Given the description of an element on the screen output the (x, y) to click on. 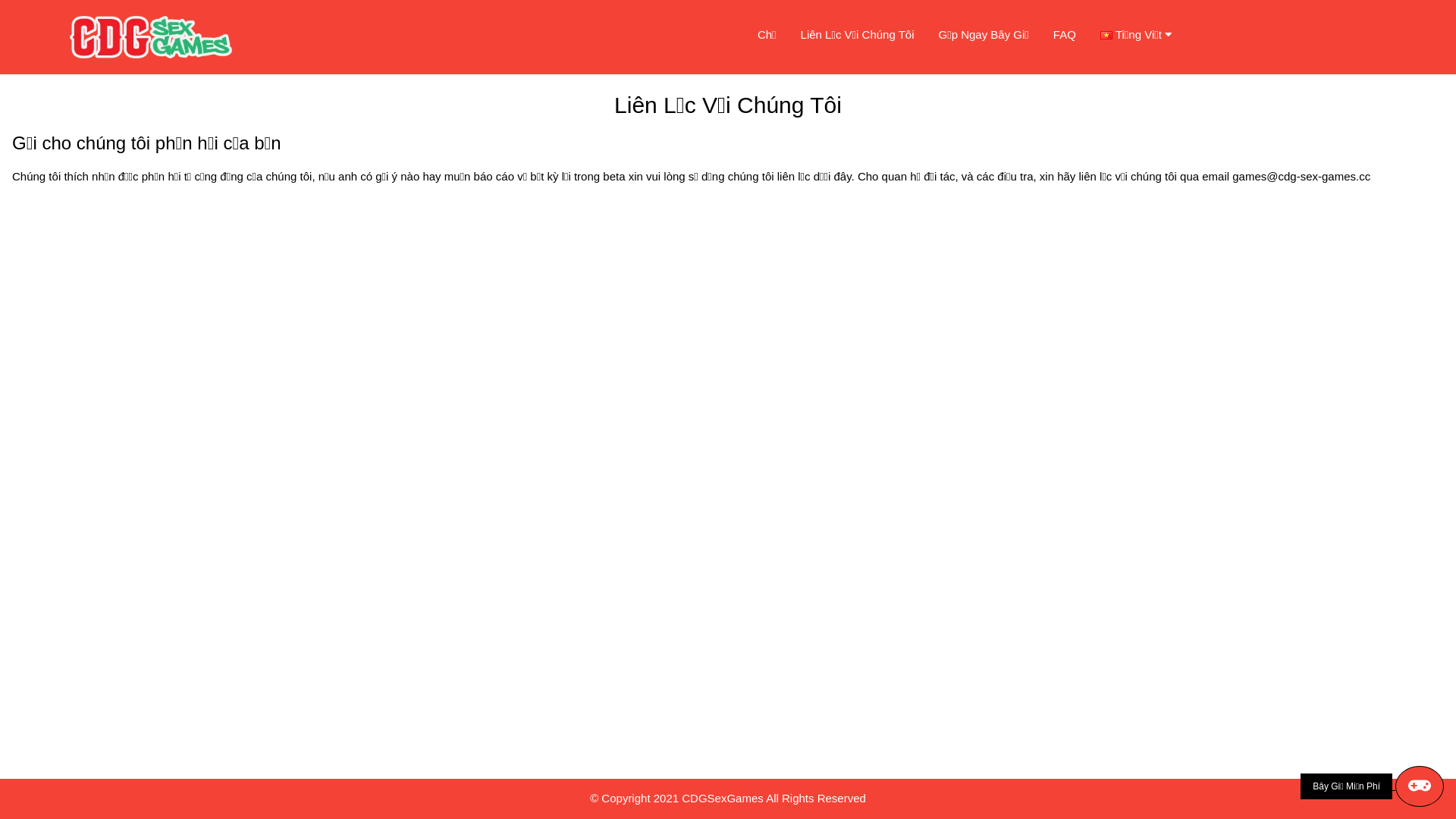
FAQ Element type: text (1064, 35)
